Given the description of an element on the screen output the (x, y) to click on. 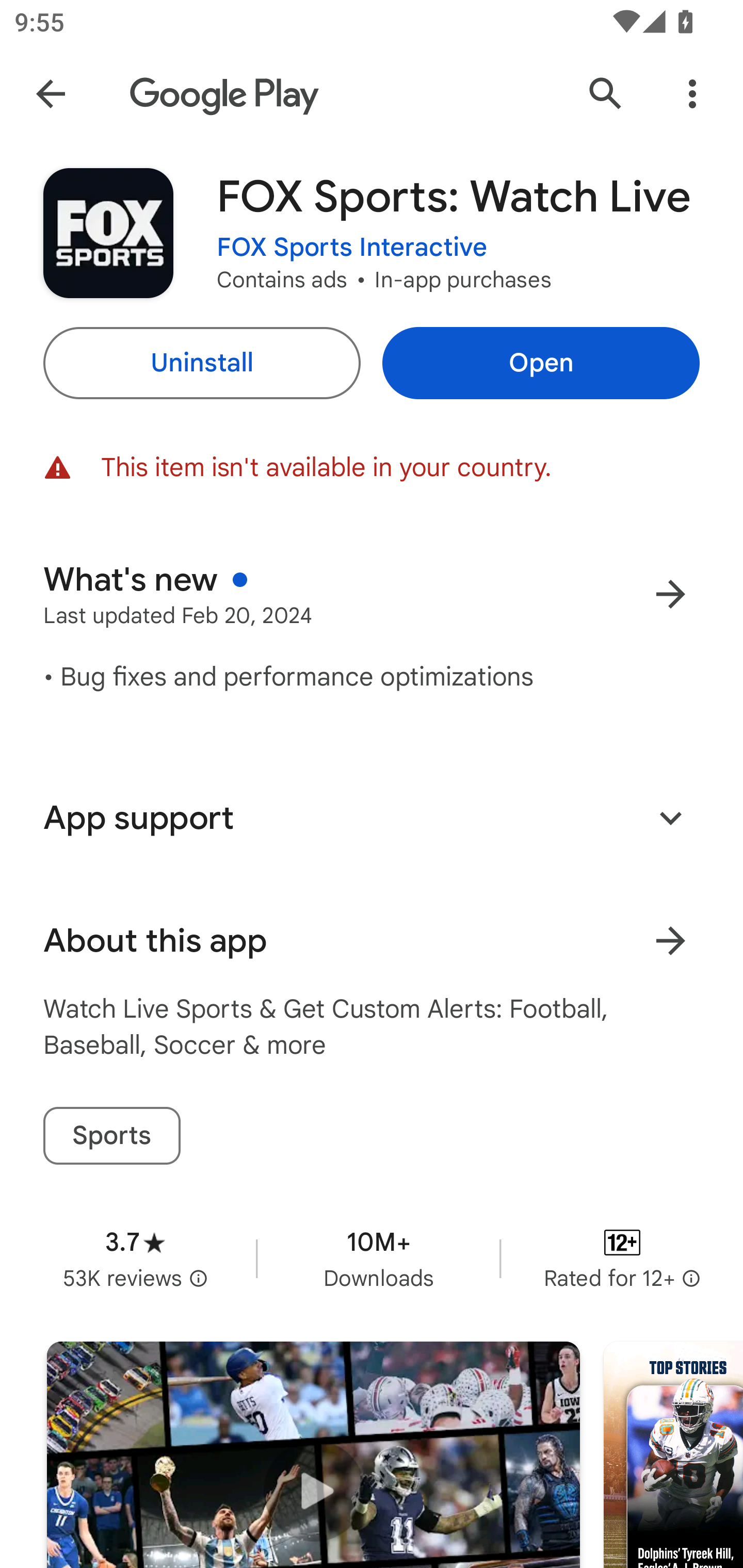
Navigate up (50, 93)
Search Google Play (605, 93)
More Options (692, 93)
FOX Sports Interactive (351, 247)
Uninstall (201, 362)
Open (540, 362)
More results for What's new (670, 594)
App support Expand (371, 817)
Expand (670, 817)
About this app Learn more About this app (371, 940)
Learn more About this app (670, 940)
Sports tag (111, 1135)
Average rating 3.7 stars in 53 thousand reviews (135, 1258)
Content rating Rated for 12+ (622, 1258)
Play trailer for "FOX Sports: Watch Live" (313, 1455)
